Given the description of an element on the screen output the (x, y) to click on. 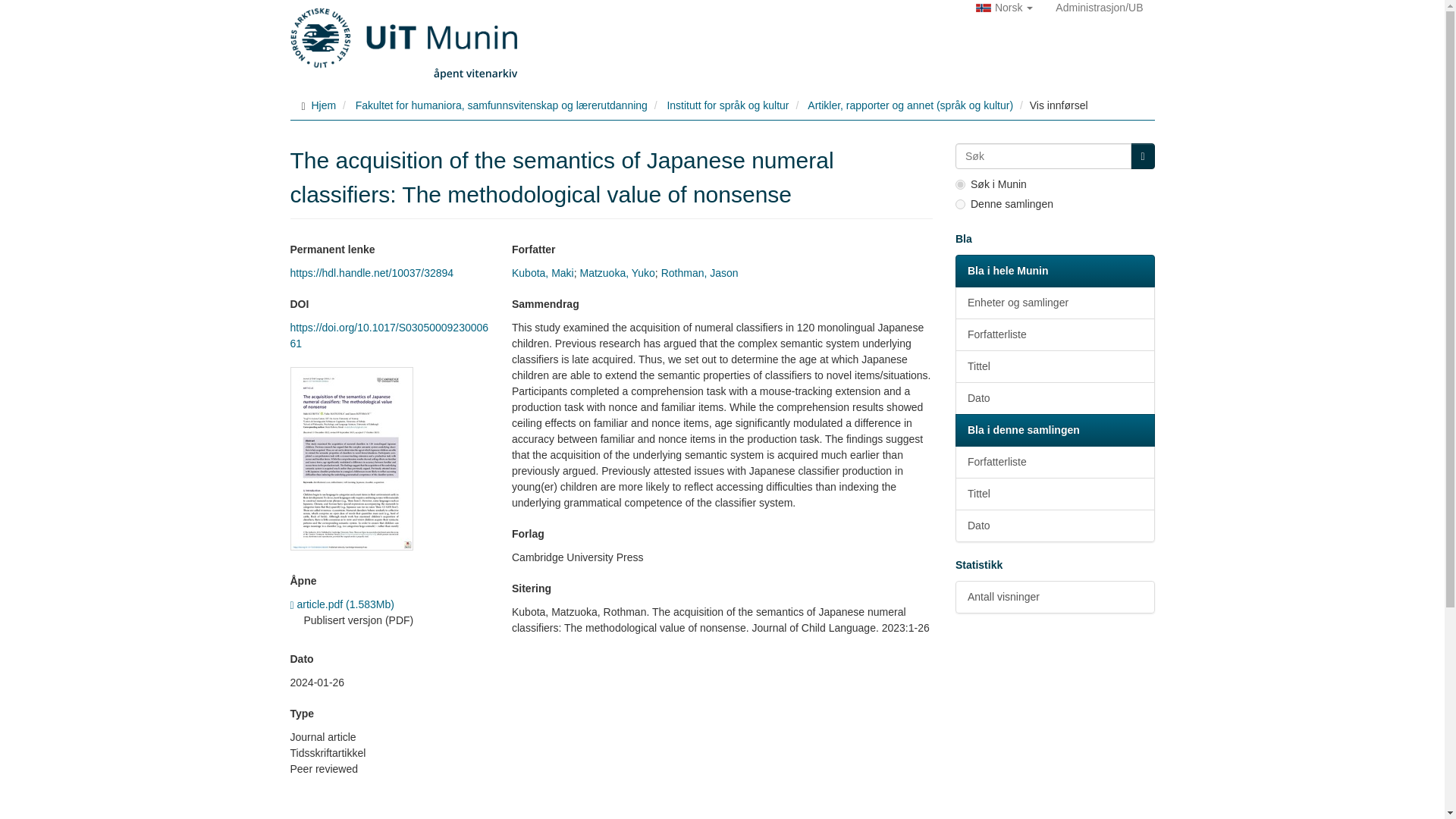
Forfatterliste (1054, 334)
Dato (1054, 398)
Enheter og samlinger (1054, 302)
Bla i denne samlingen (1054, 430)
Rothman, Jason (699, 272)
Forfatterliste (1054, 461)
Matzuoka, Yuko (616, 272)
Kubota, Maki (542, 272)
Bla i hele Munin (1054, 270)
Norsk  (1003, 7)
Hjem (323, 105)
Tittel (1054, 366)
